Given the description of an element on the screen output the (x, y) to click on. 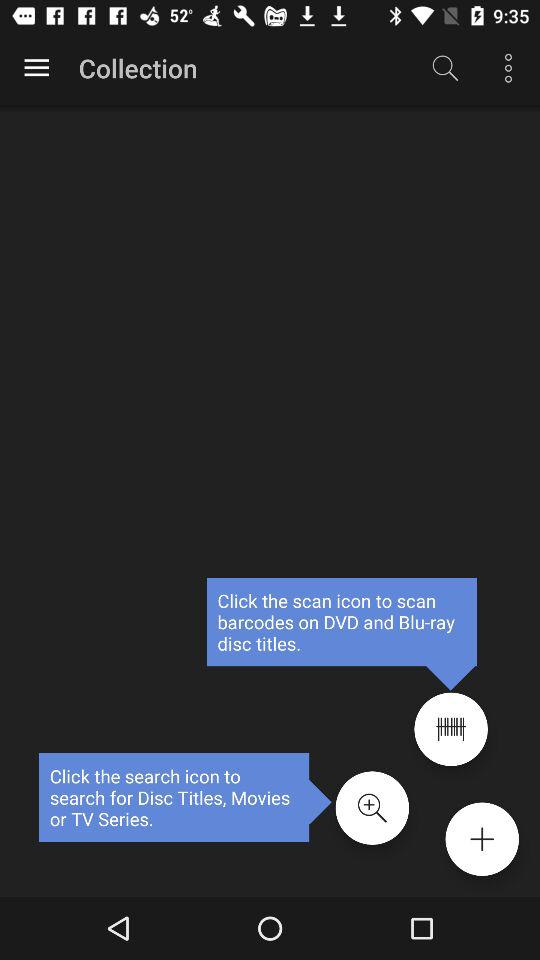
option (36, 68)
